Given the description of an element on the screen output the (x, y) to click on. 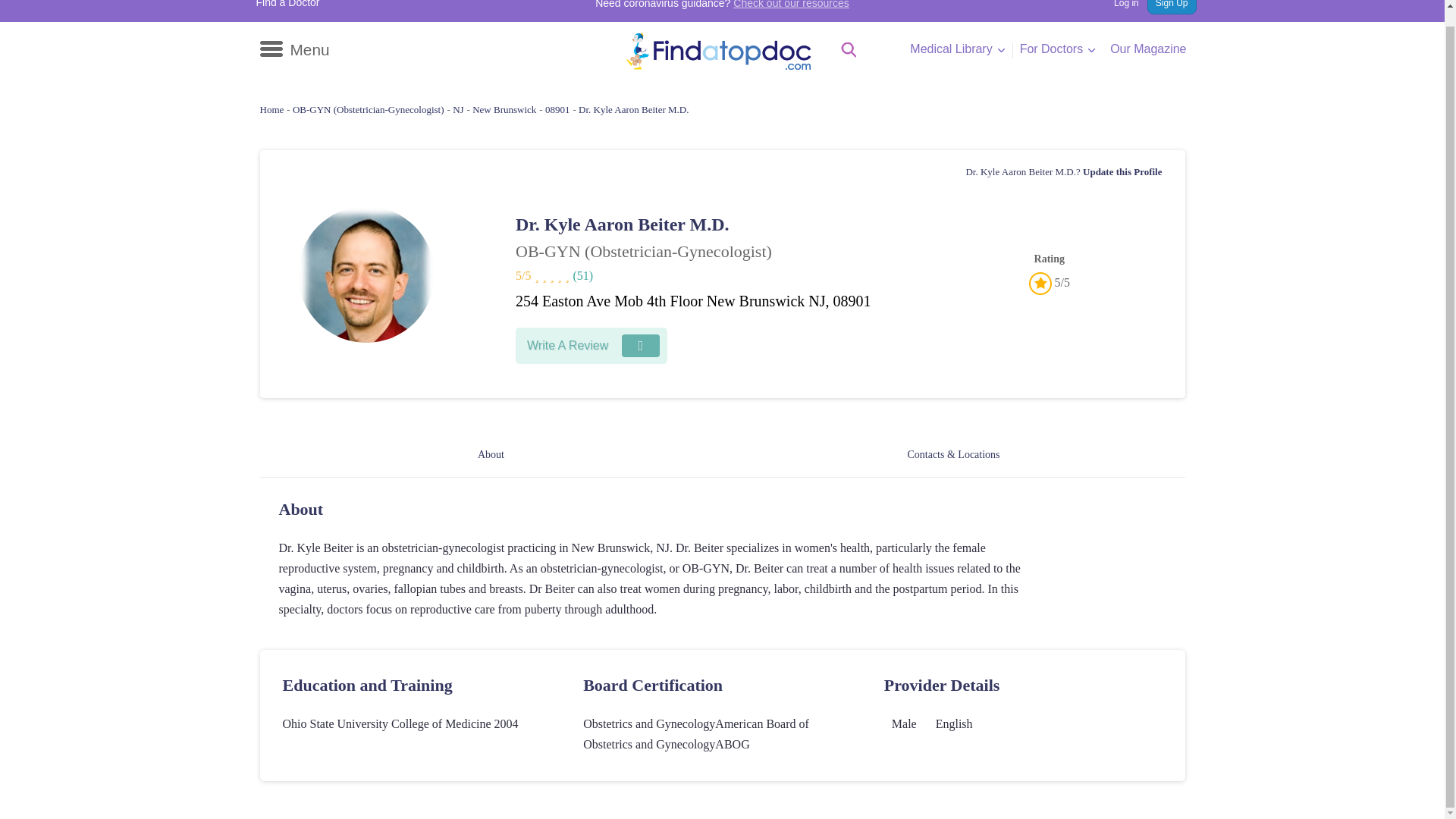
Sign Up (1171, 7)
Sign Up (1171, 7)
Log in (1118, 7)
Find a Doctor (287, 4)
Check out our resources (790, 4)
Menu (294, 49)
Log in (1118, 7)
